Given the description of an element on the screen output the (x, y) to click on. 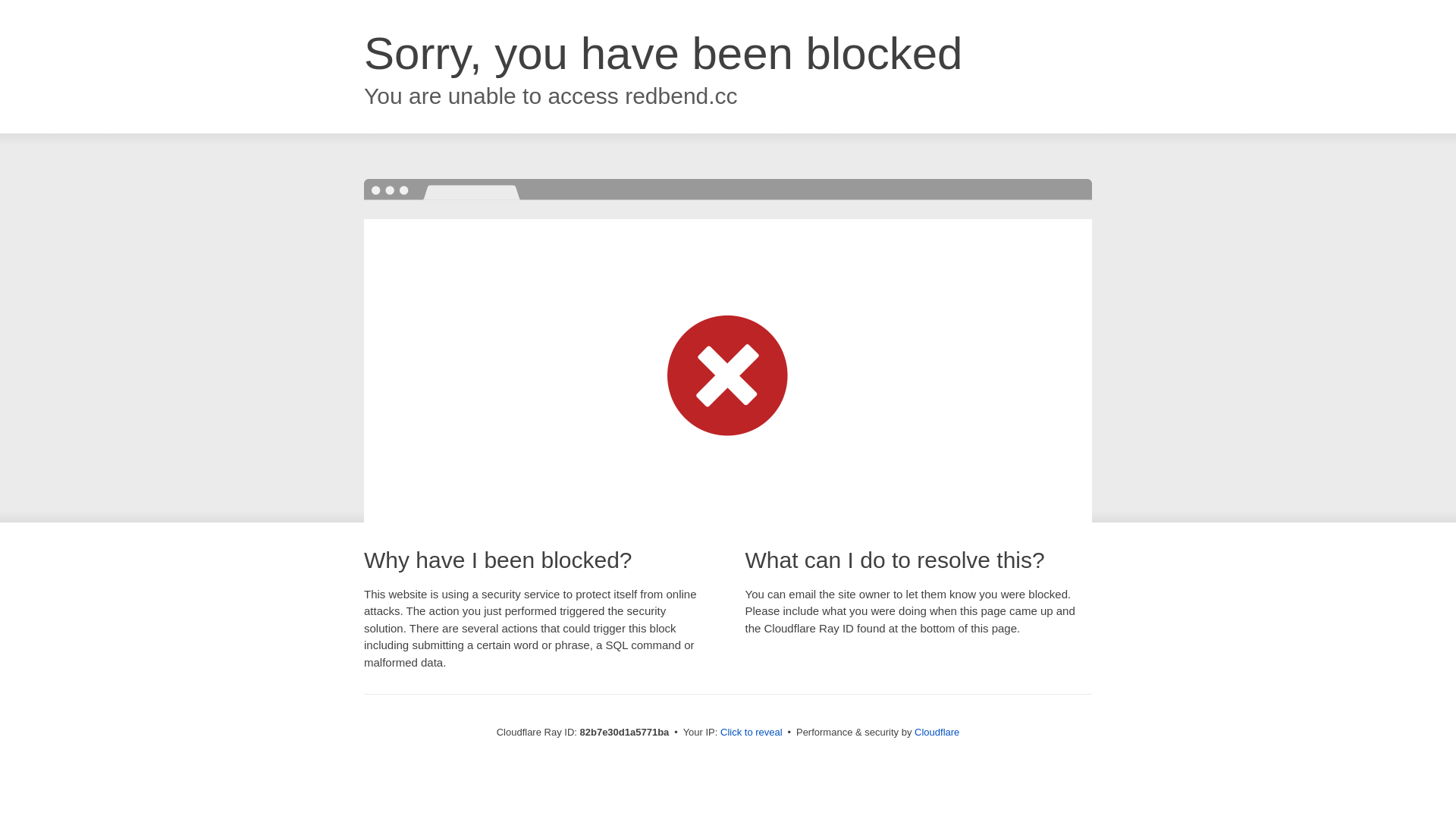
Click to reveal Element type: text (751, 732)
Cloudflare Element type: text (936, 731)
